Given the description of an element on the screen output the (x, y) to click on. 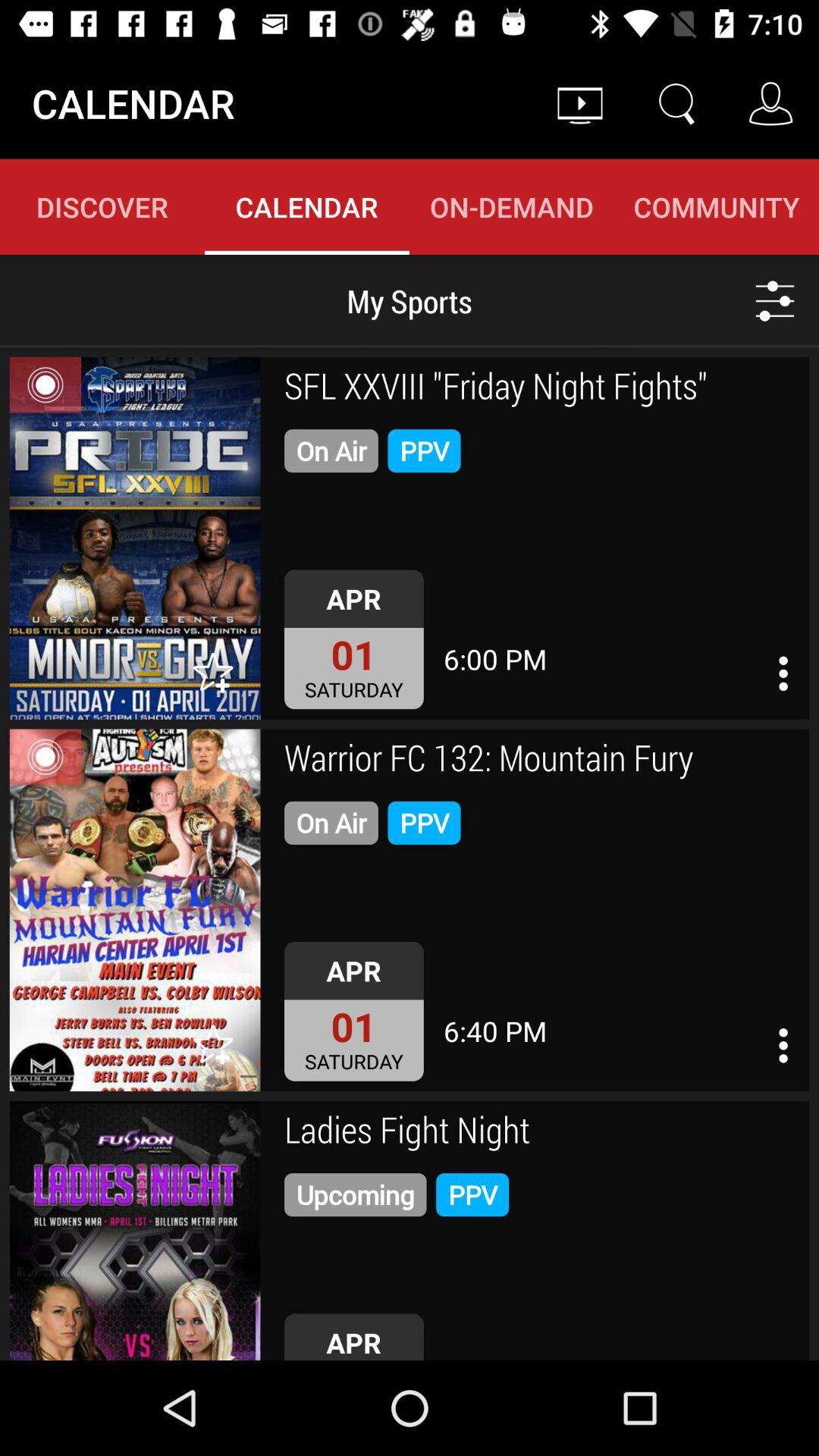
open event options menu (783, 673)
